Given the description of an element on the screen output the (x, y) to click on. 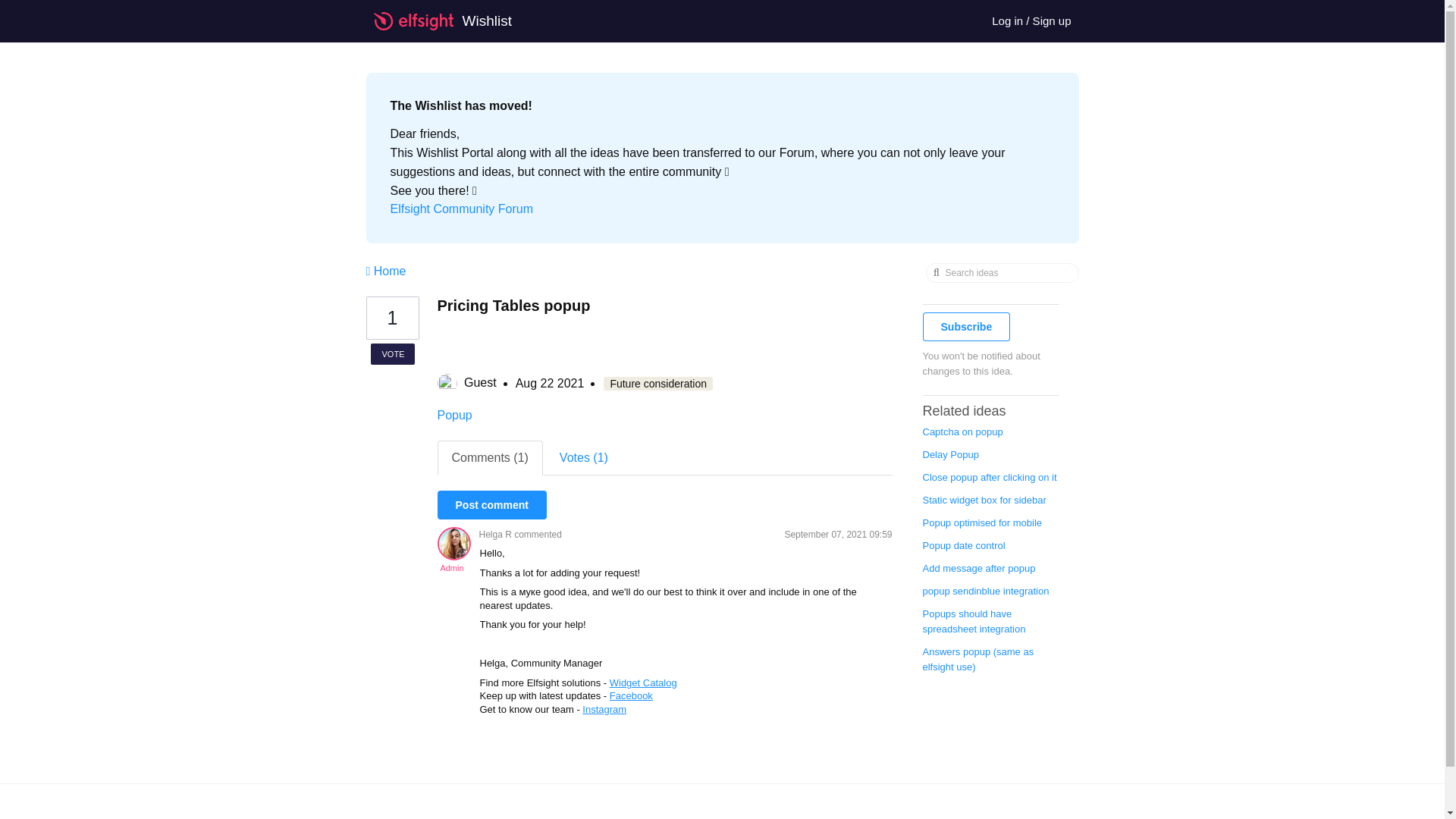
Elfsight Community Forum (461, 208)
Add message after popup (978, 568)
Popup optimised for mobile (981, 522)
Captcha on popup (962, 431)
Instagram (604, 708)
Popup date control (962, 545)
Subscribe (965, 326)
Wishlist (450, 21)
Popup (453, 414)
Facebook (631, 695)
